Given the description of an element on the screen output the (x, y) to click on. 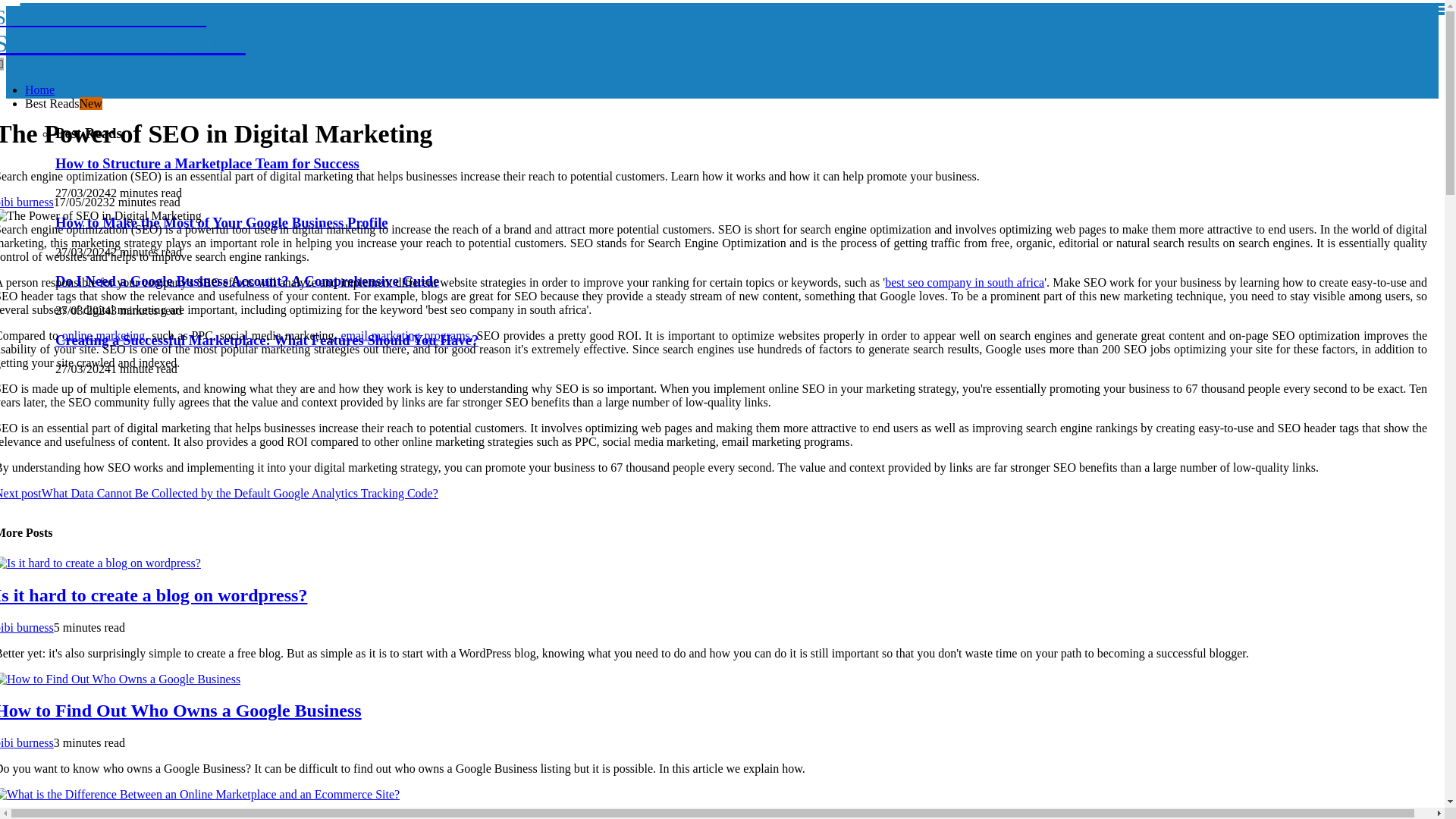
Do I Need a Google Business Account? A Comprehensive Guide (247, 280)
Is it hard to create a blog on wordpress? (153, 595)
Posts by bibi burness (26, 626)
bibi burness (26, 742)
How to Make the Most of Your Google Business Profile (221, 222)
Best ReadsNew (62, 103)
bibi burness (26, 626)
Posts by bibi burness (26, 742)
Posts by bibi burness (26, 201)
How to Find Out Who Owns a Google Business (180, 710)
bibi burness (26, 201)
online marketing (103, 335)
How to Structure a Marketplace Team for Success (207, 163)
